Given the description of an element on the screen output the (x, y) to click on. 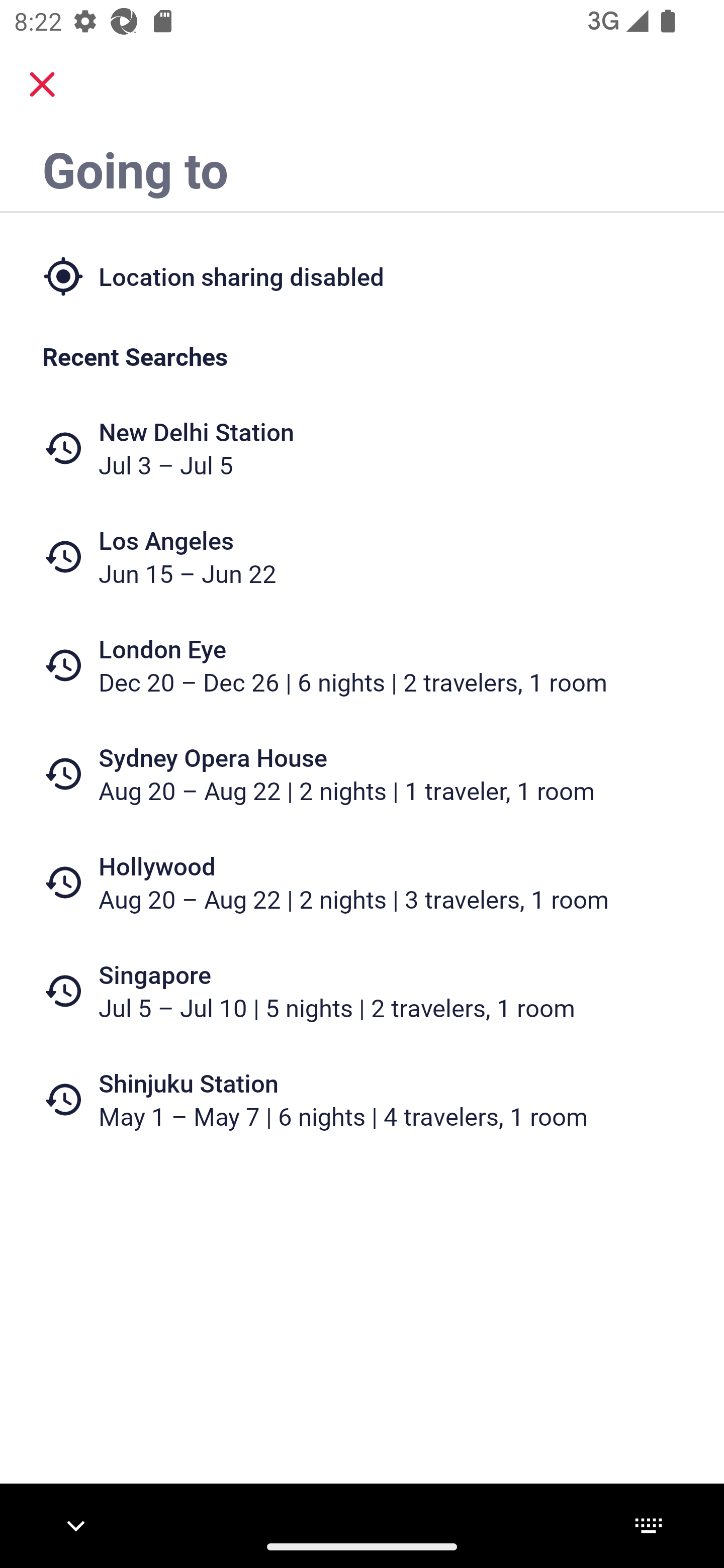
close. (42, 84)
Location sharing disabled (362, 275)
New Delhi Station Jul 3 – Jul 5 (362, 448)
Los Angeles Jun 15 – Jun 22 (362, 557)
